Given the description of an element on the screen output the (x, y) to click on. 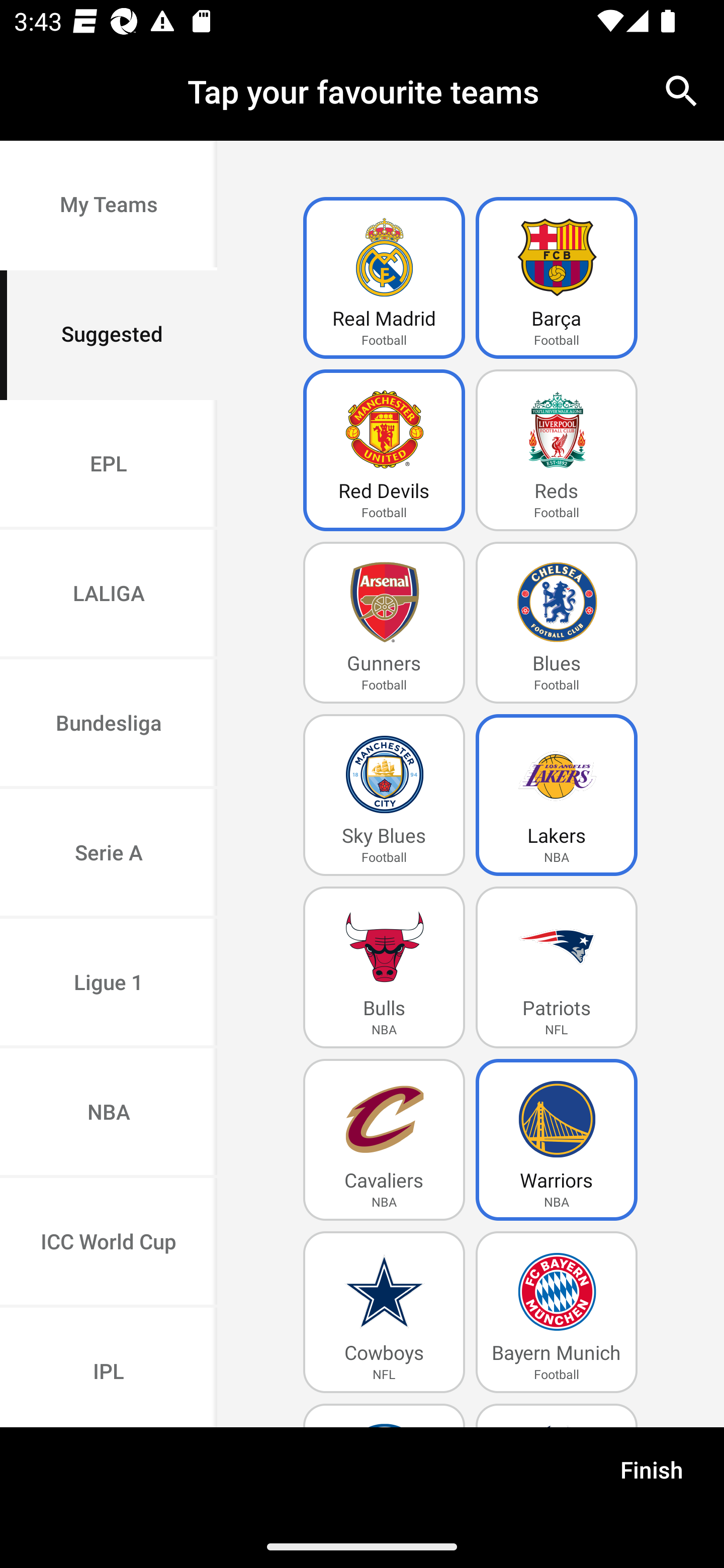
search (681, 90)
My Teams (108, 206)
Real Madrid Real MadridSelected Football (383, 278)
Barça BarçaSelected Football (556, 278)
Suggested (108, 334)
Red Devils Red DevilsSelected Football (383, 450)
Reds Reds Football (556, 450)
EPL (108, 464)
LALIGA (108, 594)
Gunners Gunners Football (383, 623)
Blues Blues Football (556, 623)
Bundesliga (108, 725)
Sky Blues Sky Blues Football (383, 794)
Lakers LakersSelected NBA (556, 794)
Serie A (108, 853)
Bulls Bulls NBA (383, 966)
Patriots Patriots NFL (556, 966)
Ligue 1 (108, 983)
NBA (108, 1113)
Cavaliers Cavaliers NBA (383, 1139)
Warriors WarriorsSelected NBA (556, 1139)
ICC World Cup (108, 1242)
Cowboys Cowboys NFL (383, 1311)
Bayern Munich Bayern Munich Football (556, 1311)
IPL (108, 1366)
Finish Finish and Close (651, 1475)
